Given the description of an element on the screen output the (x, y) to click on. 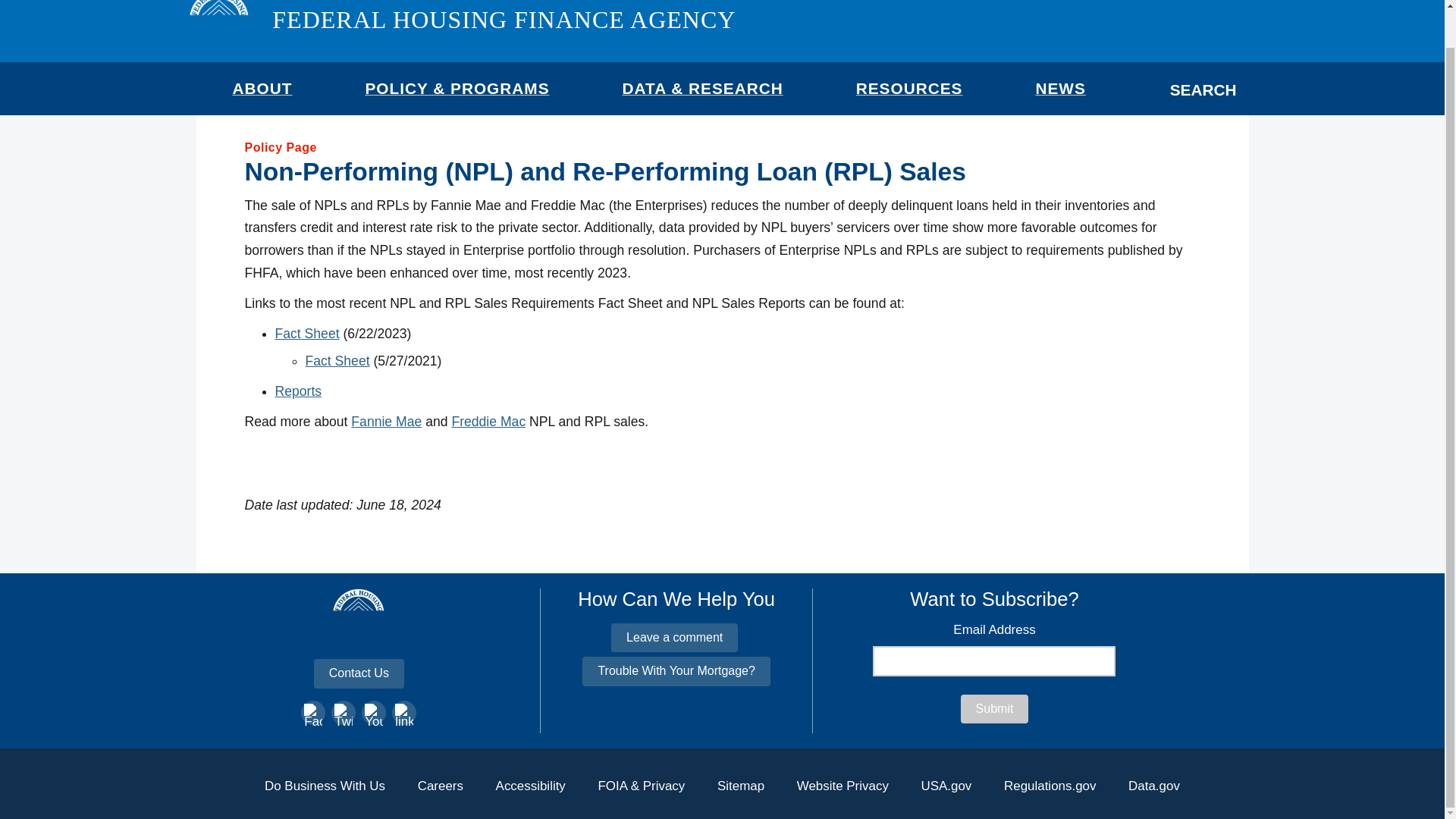
Contact Us (359, 673)
Leave a comment (674, 637)
Regulations.gov (1050, 785)
Freddie Mac (488, 421)
fhfa's logo (358, 635)
Submit (994, 708)
Link goes to an external web page. (488, 421)
fhfa's logo (218, 24)
Reports (298, 391)
Federal Housing Finance Agency (503, 19)
